Given the description of an element on the screen output the (x, y) to click on. 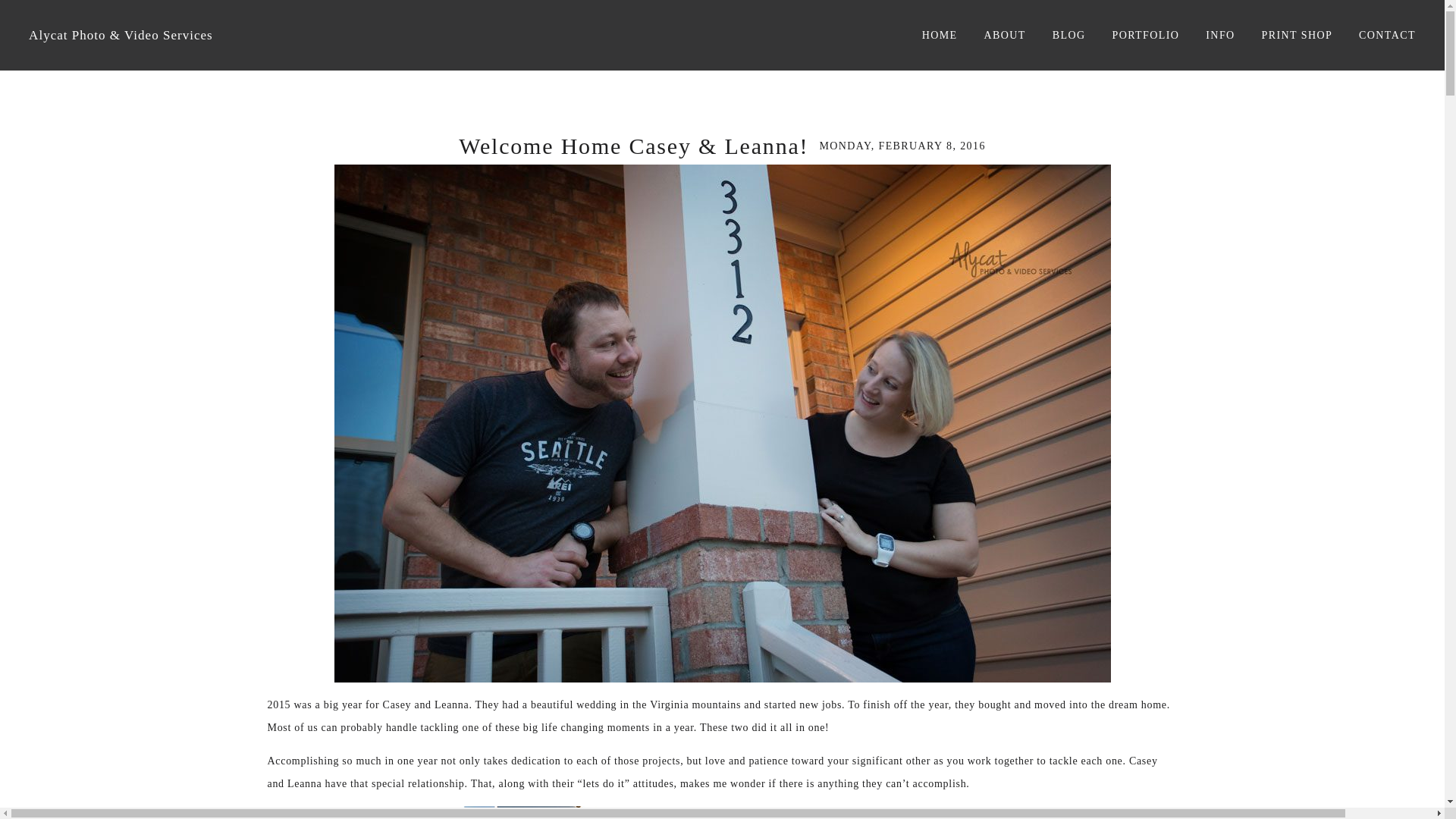
BLOG (1069, 34)
INFO (1219, 34)
ABOUT (1005, 34)
PORTFOLIO (1145, 34)
HOME (939, 34)
PRINT SHOP (1297, 34)
CONTACT (1386, 34)
